Given the description of an element on the screen output the (x, y) to click on. 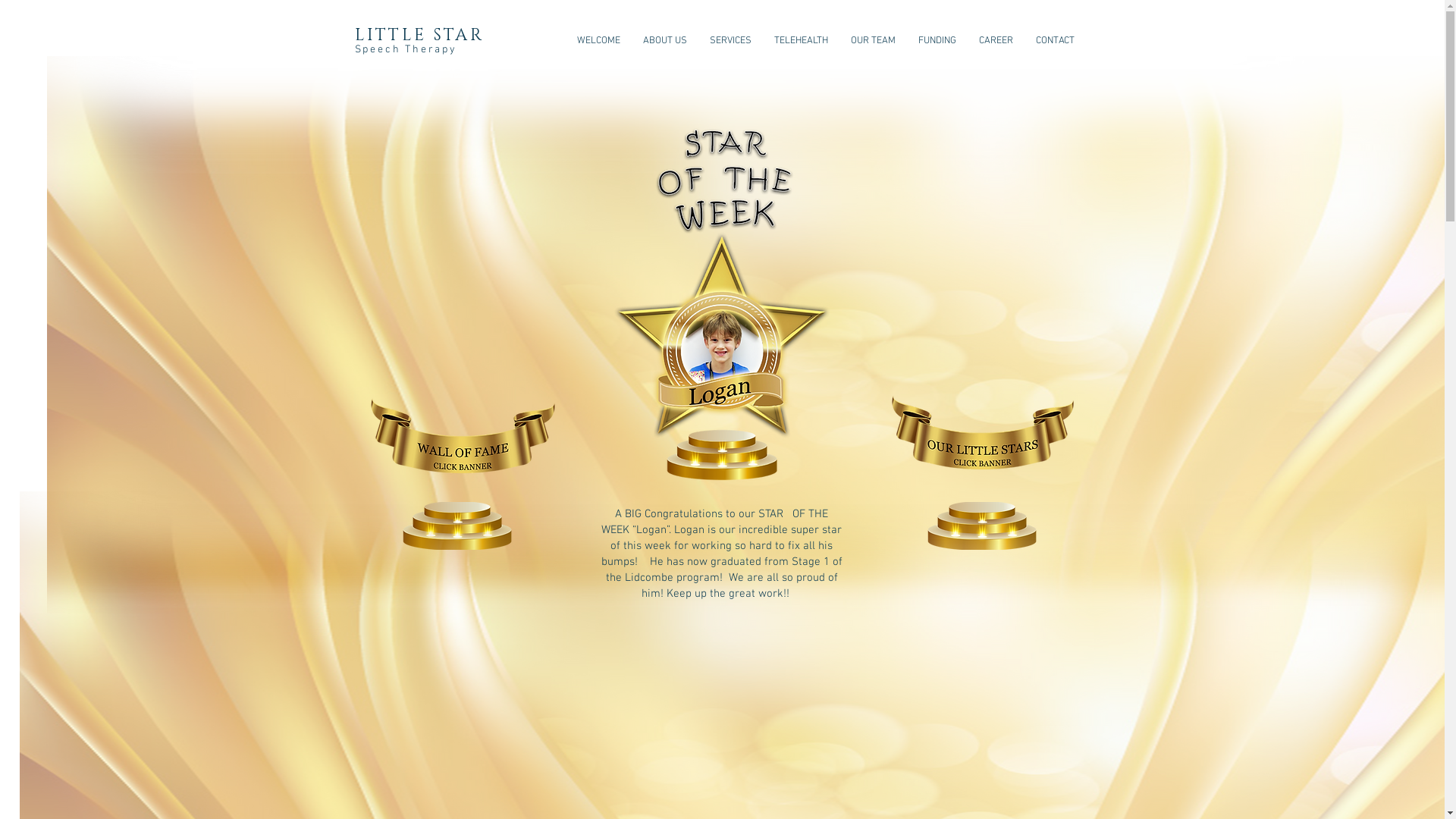
ABOUT US Element type: text (663, 40)
Speech Therapy Element type: text (405, 49)
FUNDING Element type: text (936, 40)
LITTLE STAR Element type: text (418, 35)
OUR TEAM Element type: text (872, 40)
TELEHEALTH Element type: text (800, 40)
WELCOME Element type: text (598, 40)
CAREER Element type: text (995, 40)
CONTACT Element type: text (1054, 40)
SERVICES Element type: text (729, 40)
